Given the description of an element on the screen output the (x, y) to click on. 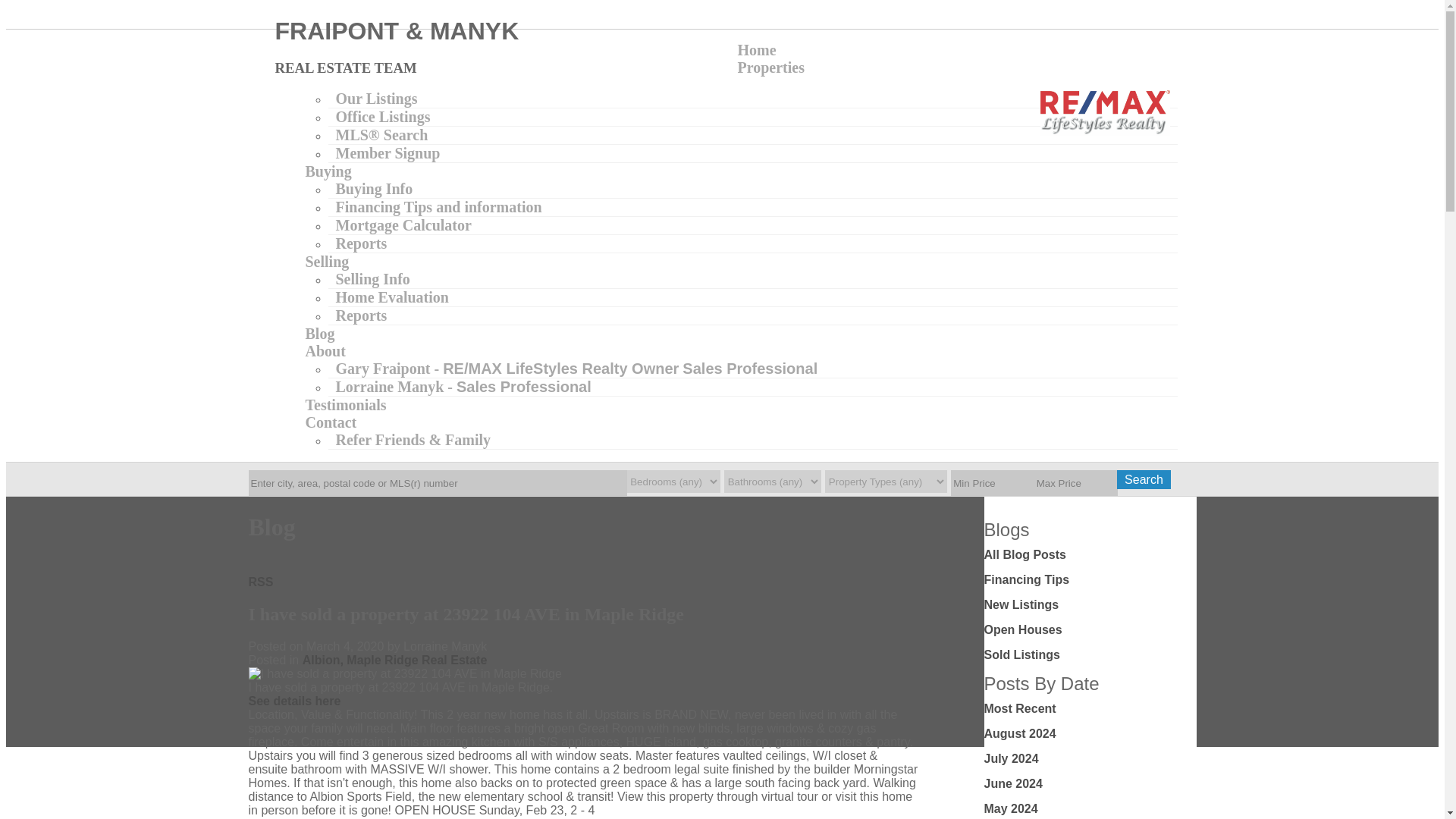
Office Listings (382, 116)
See details here (294, 700)
August 2024 (1020, 733)
Reports (360, 243)
RSS (260, 581)
Most Recent (1020, 707)
Sold Listings (1021, 654)
Selling (326, 261)
Buying (327, 171)
Financing Tips and information (437, 206)
